Given the description of an element on the screen output the (x, y) to click on. 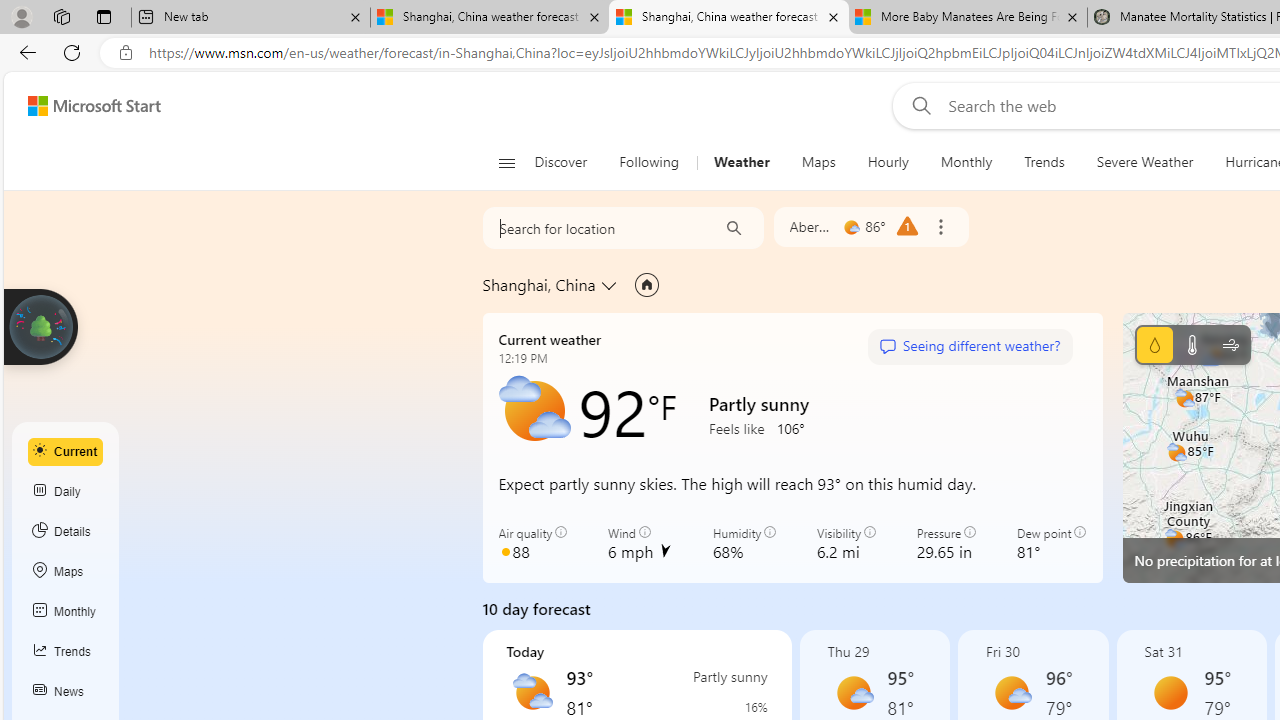
Discover (568, 162)
Class: aqiColorCycle-DS-EntryPoint1-1 (505, 551)
Personal Profile (21, 16)
Current (65, 451)
Back (24, 52)
Details (65, 531)
Maps (818, 162)
Wind (1230, 344)
Mostly sunny (1011, 692)
Aberdeen (811, 226)
Trends (1044, 162)
Change location (610, 285)
News (65, 692)
Set as primary location (646, 284)
